Given the description of an element on the screen output the (x, y) to click on. 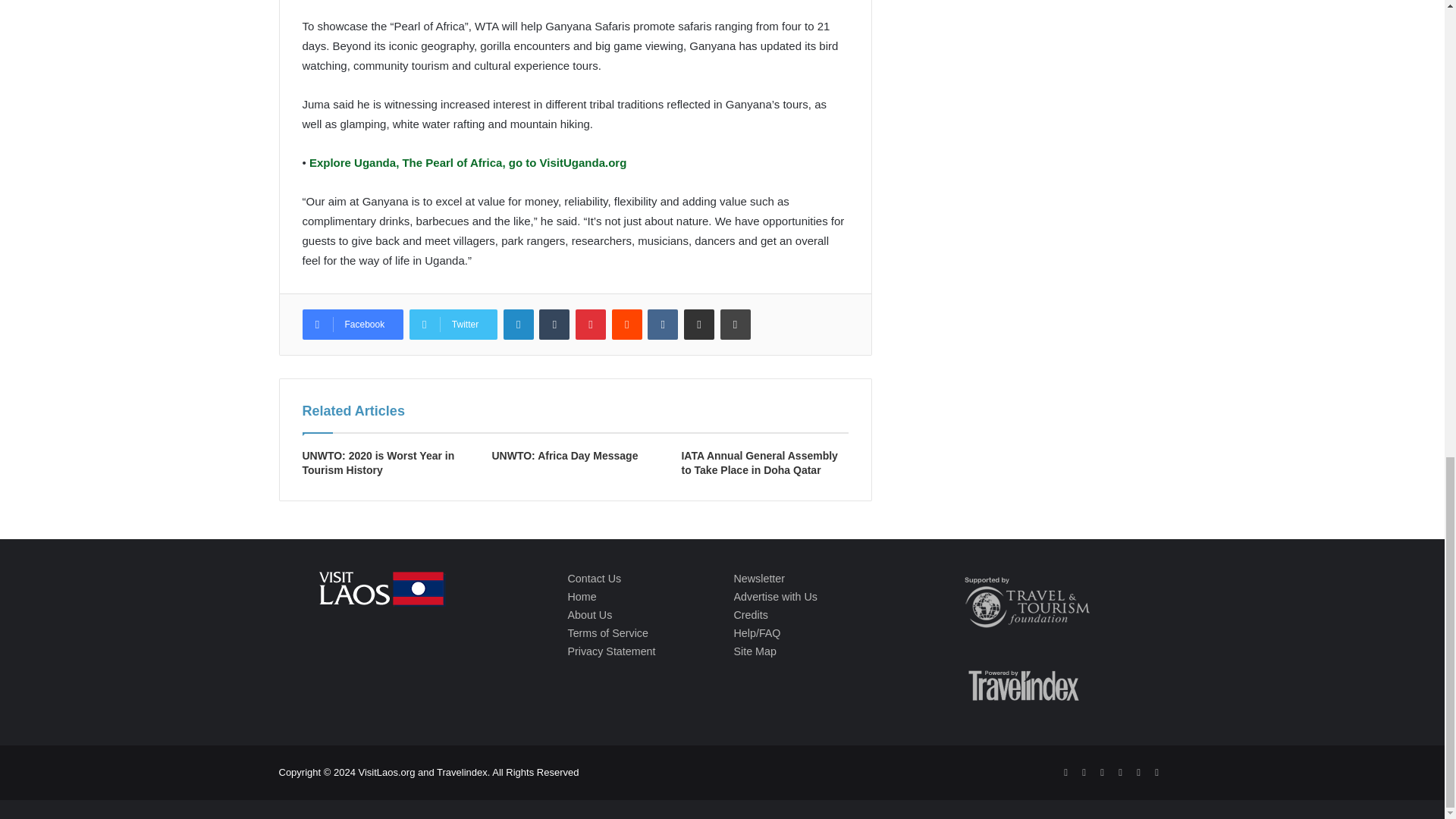
Twitter (453, 324)
Tumblr (553, 324)
Pinterest (590, 324)
VKontakte (662, 324)
Share via Email (699, 324)
Reddit (626, 324)
Facebook (352, 324)
LinkedIn (518, 324)
Print (735, 324)
